Given the description of an element on the screen output the (x, y) to click on. 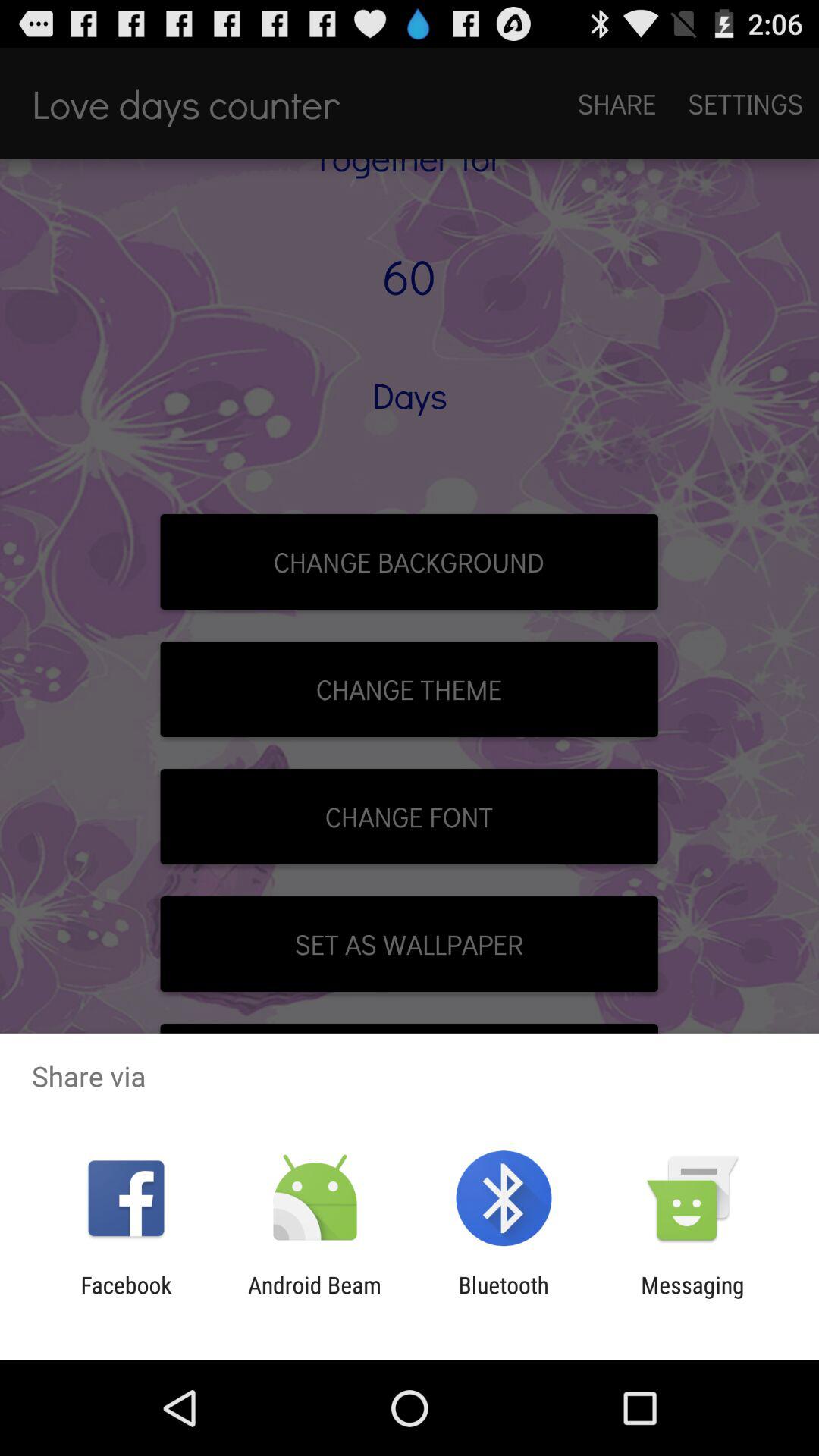
scroll until facebook (125, 1298)
